Given the description of an element on the screen output the (x, y) to click on. 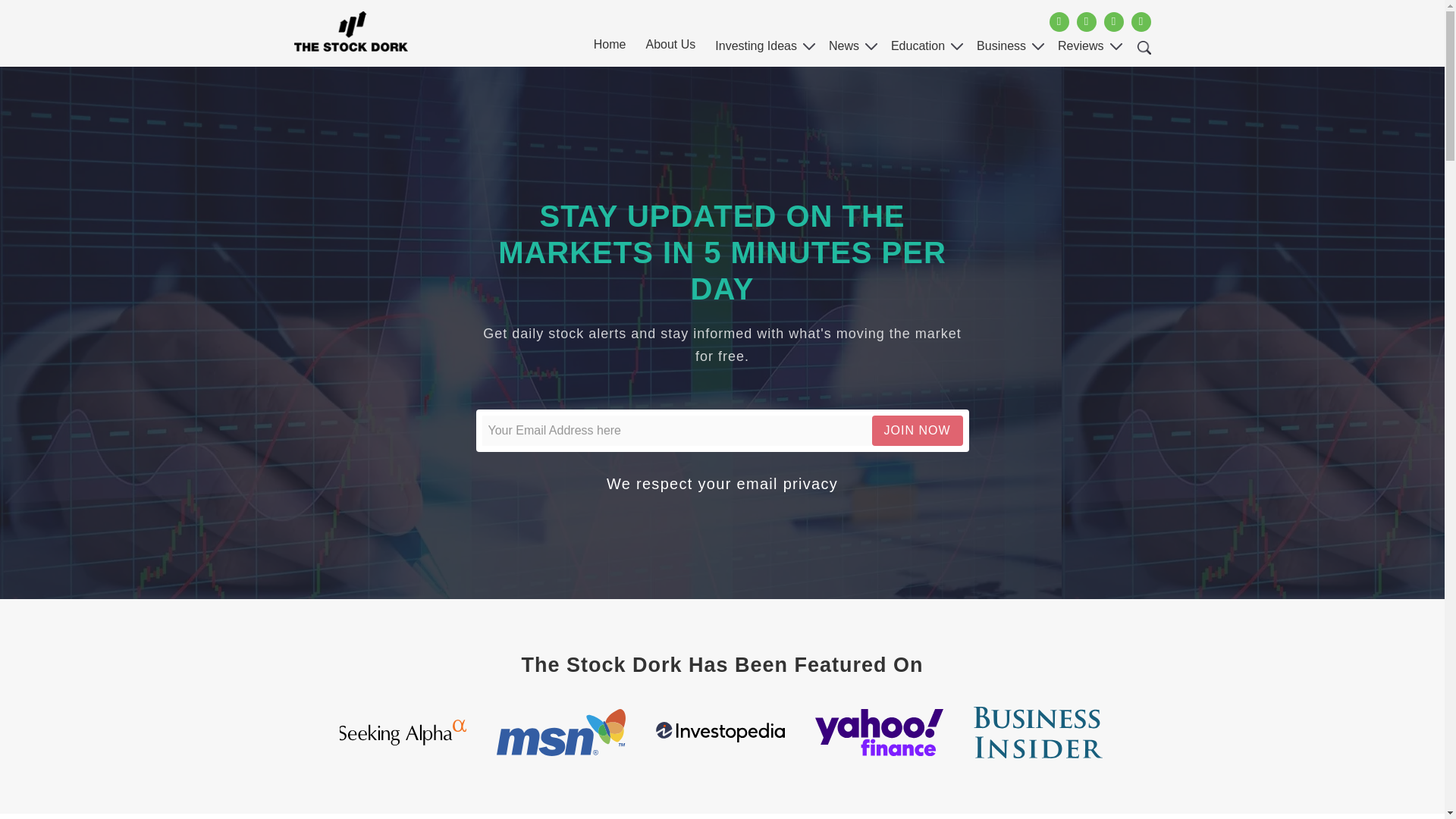
Education (917, 50)
Join Now (917, 430)
Home (609, 48)
News (843, 50)
email privacy (787, 483)
Reviews (1080, 50)
About Us (670, 48)
Business (1001, 50)
Privacy Policy (787, 483)
Join Now (917, 430)
Investing Ideas (756, 50)
